Given the description of an element on the screen output the (x, y) to click on. 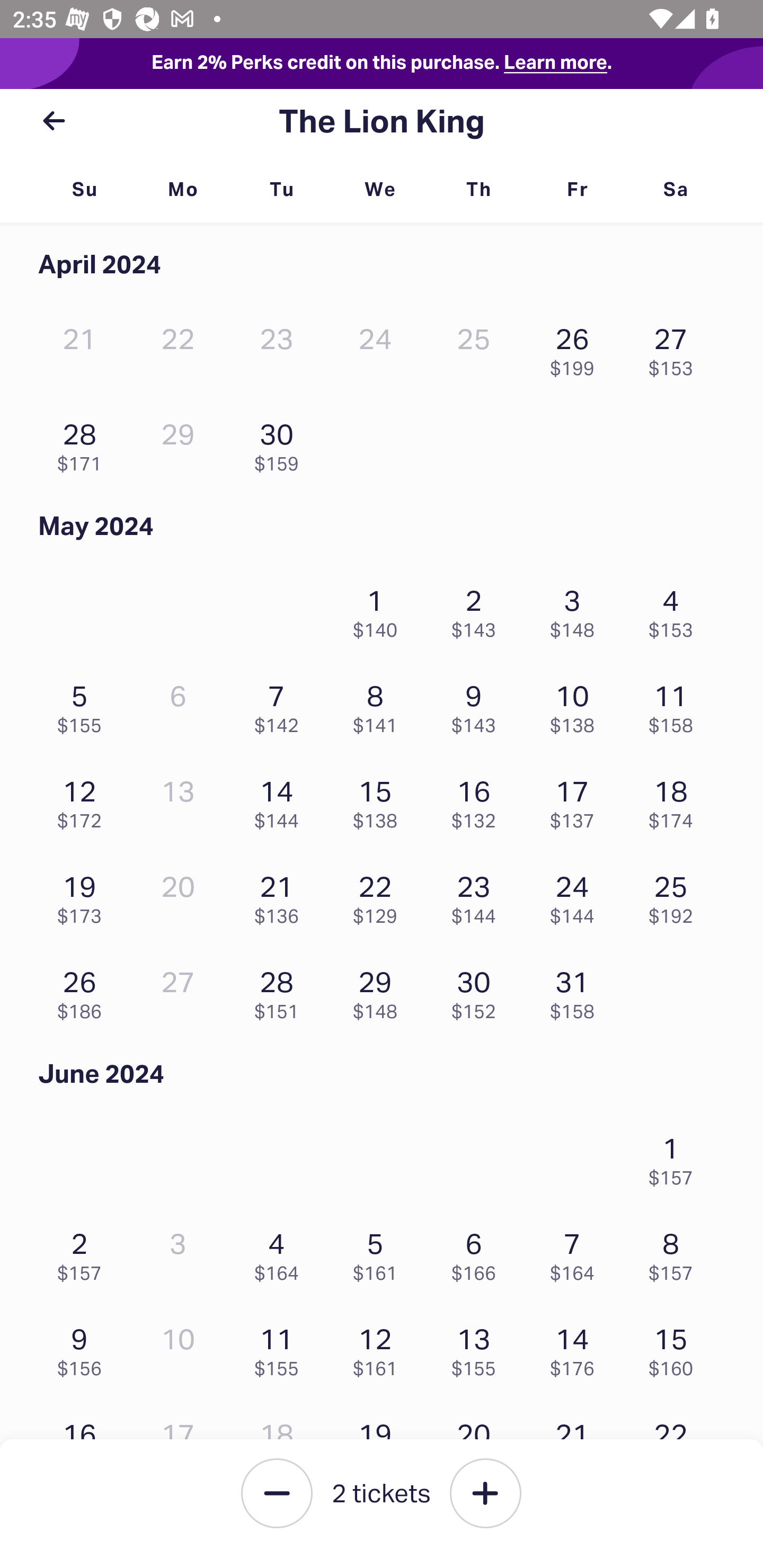
Earn 2% Perks credit on this purchase. Learn more. (381, 63)
back button (53, 120)
26 $199 (577, 347)
27 $153 (675, 347)
28 $171 (84, 442)
30 $159 (281, 442)
1 $140 (379, 608)
2 $143 (478, 608)
3 $148 (577, 608)
4 $153 (675, 608)
5 $155 (84, 704)
7 $142 (281, 704)
8 $141 (379, 704)
9 $143 (478, 704)
10 $138 (577, 704)
11 $158 (675, 704)
12 $172 (84, 800)
14 $144 (281, 800)
15 $138 (379, 800)
16 $132 (478, 800)
17 $137 (577, 800)
18 $174 (675, 800)
19 $173 (84, 895)
21 $136 (281, 895)
22 $129 (379, 895)
23 $144 (478, 895)
24 $144 (577, 895)
25 $192 (675, 895)
26 $186 (84, 989)
28 $151 (281, 989)
29 $148 (379, 989)
30 $152 (478, 989)
31 $158 (577, 989)
1 $157 (675, 1156)
2 $157 (84, 1251)
4 $164 (281, 1251)
5 $161 (379, 1251)
6 $166 (478, 1251)
7 $164 (577, 1251)
8 $157 (675, 1251)
9 $156 (84, 1347)
11 $155 (281, 1347)
12 $161 (379, 1347)
13 $155 (478, 1347)
14 $176 (577, 1347)
15 $160 (675, 1347)
